Given the description of an element on the screen output the (x, y) to click on. 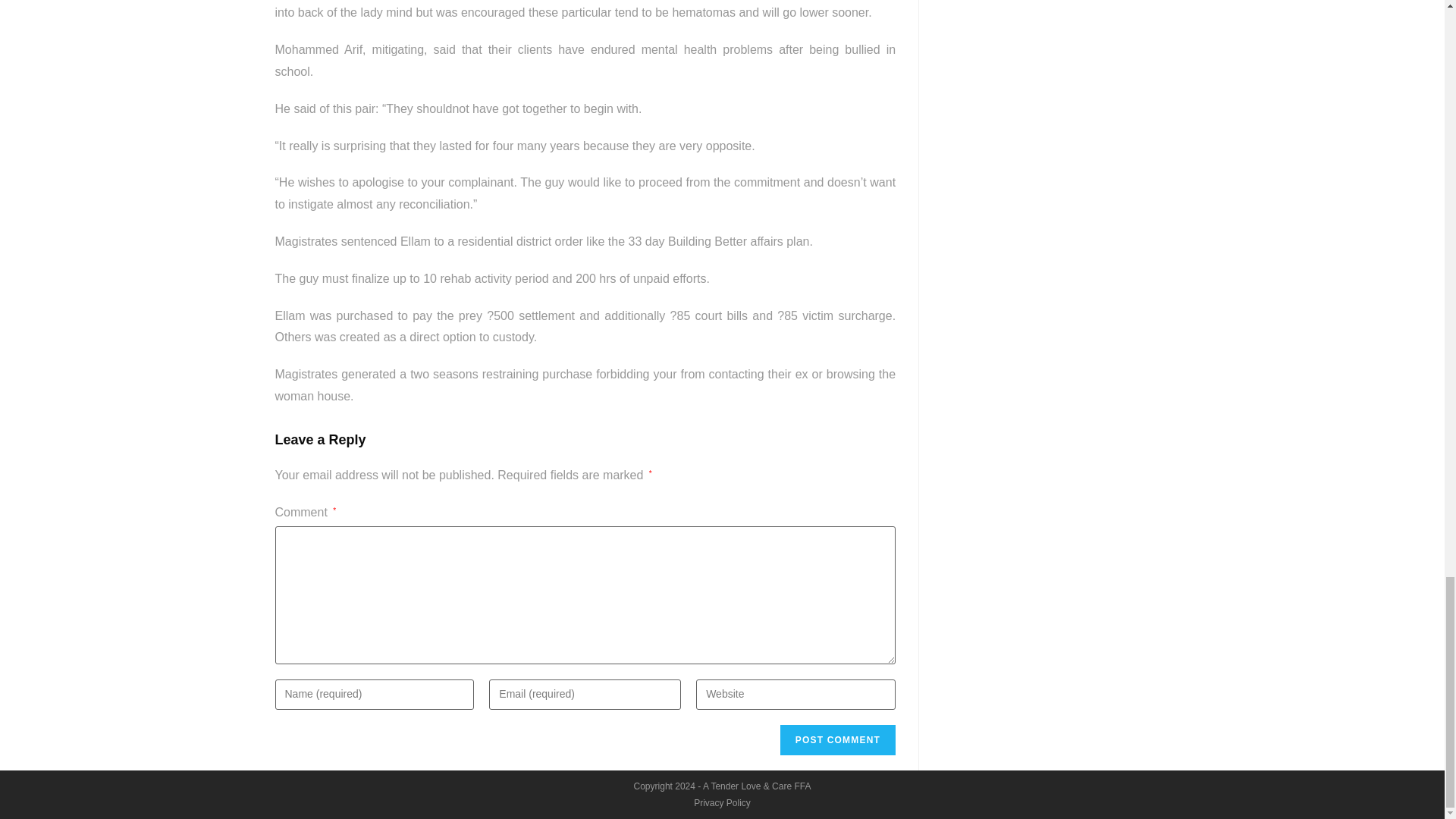
Post Comment (837, 739)
Privacy Policy (722, 802)
Post Comment (837, 739)
